Given the description of an element on the screen output the (x, y) to click on. 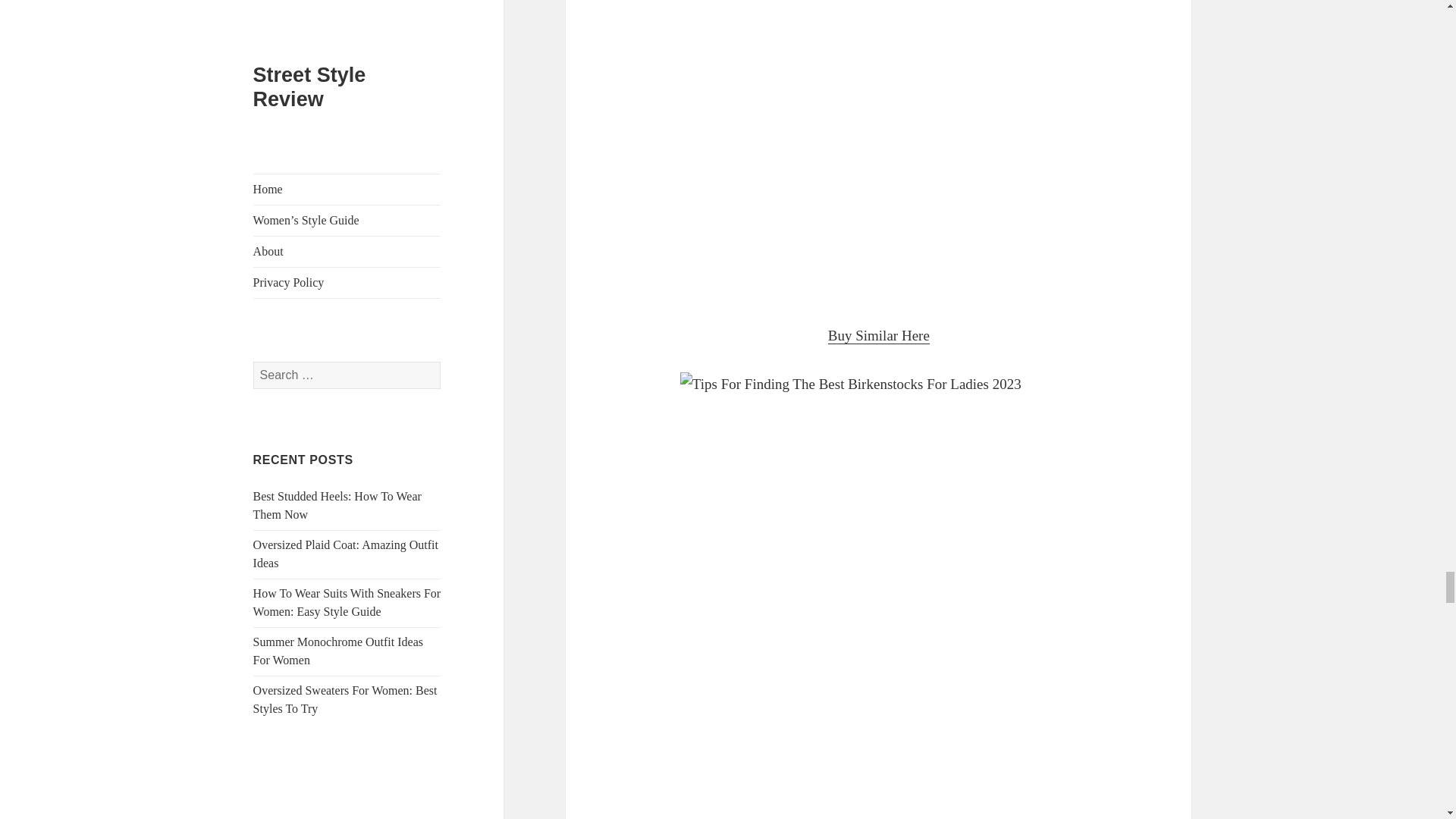
Buy Similar Here (879, 335)
